Given the description of an element on the screen output the (x, y) to click on. 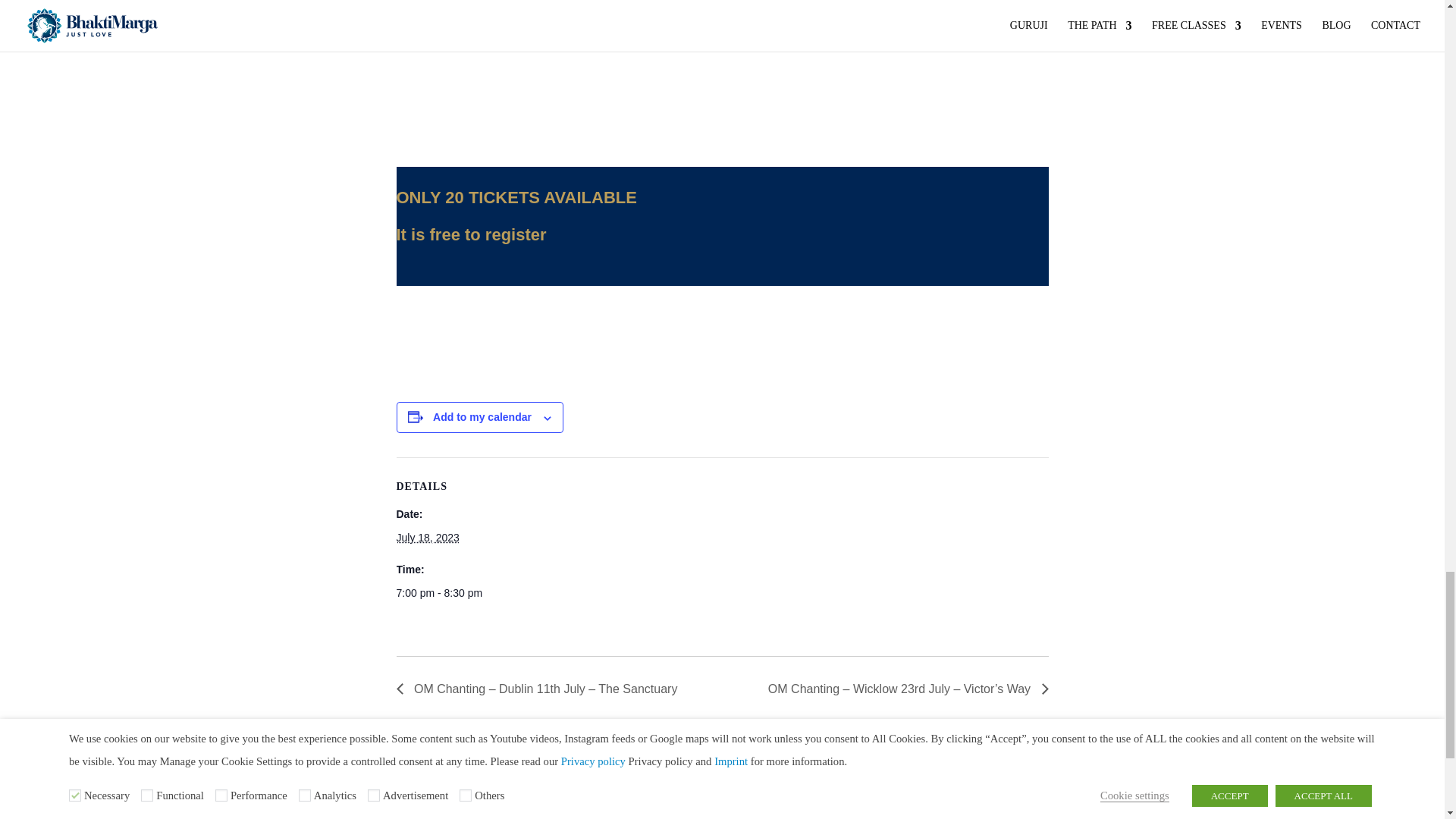
2023-07-18 (459, 593)
2023-07-18 (427, 537)
Add to my calendar (481, 417)
